Given the description of an element on the screen output the (x, y) to click on. 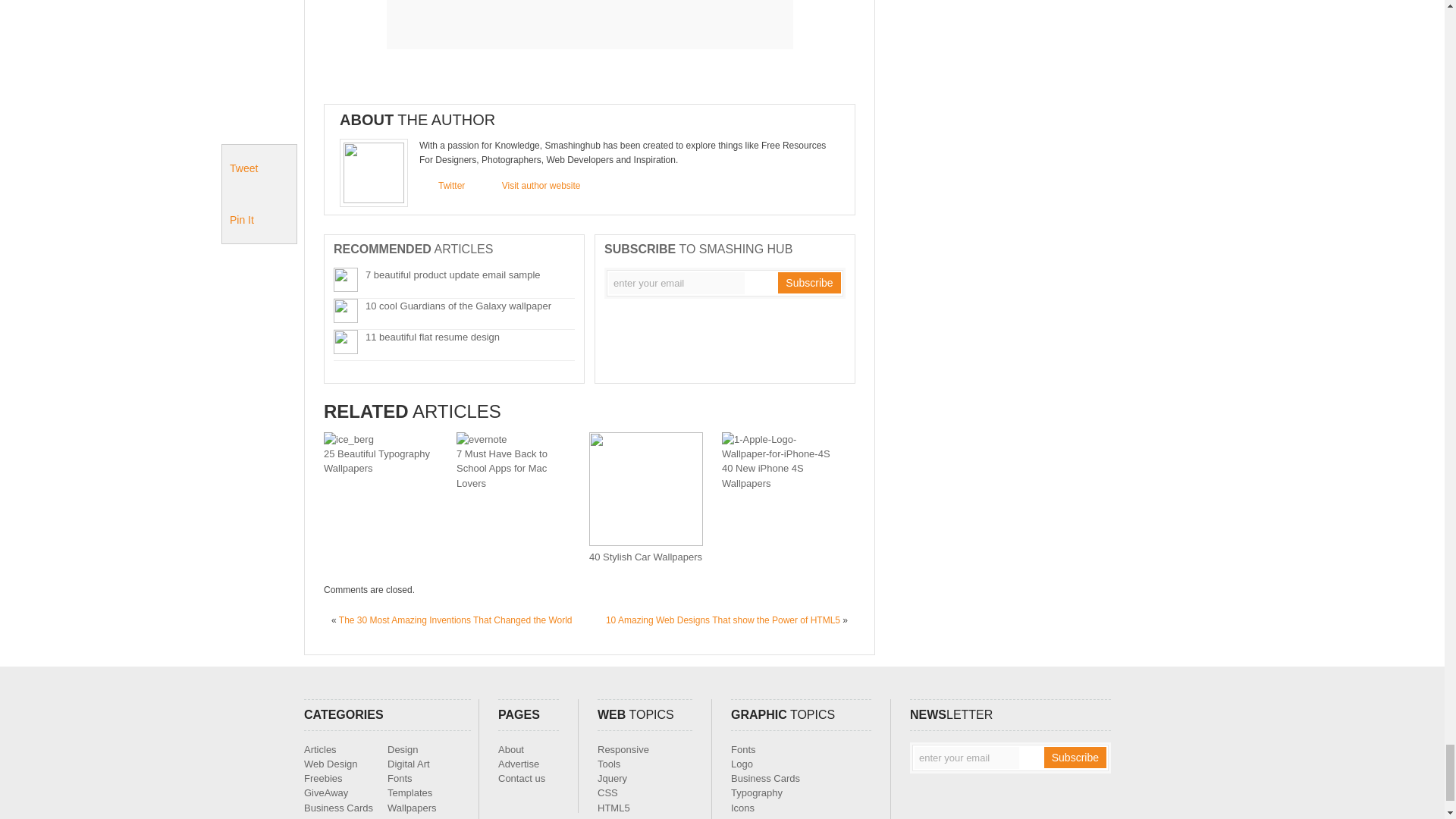
40 Stylish Car Wallpapers (646, 542)
Enter your email (966, 757)
25 Beautiful Typography Wallpapers (376, 460)
10 cool Guardians of the Galaxy wallpaper (458, 306)
11 beautiful flat resume design (432, 337)
7 Must Have Back to School Apps for Mac Lovers (481, 439)
Subscribe (1074, 757)
Enter your email (676, 282)
40 New iPhone 4S Wallpapers (762, 475)
Subscribe (808, 282)
7 beautiful product update email sample (452, 274)
40 Stylish Car Wallpapers (645, 556)
40 New iPhone 4S Wallpapers (778, 453)
25 Beautiful Typography Wallpapers (348, 439)
7 Must Have Back to School Apps for Mac Lovers (502, 467)
